Given the description of an element on the screen output the (x, y) to click on. 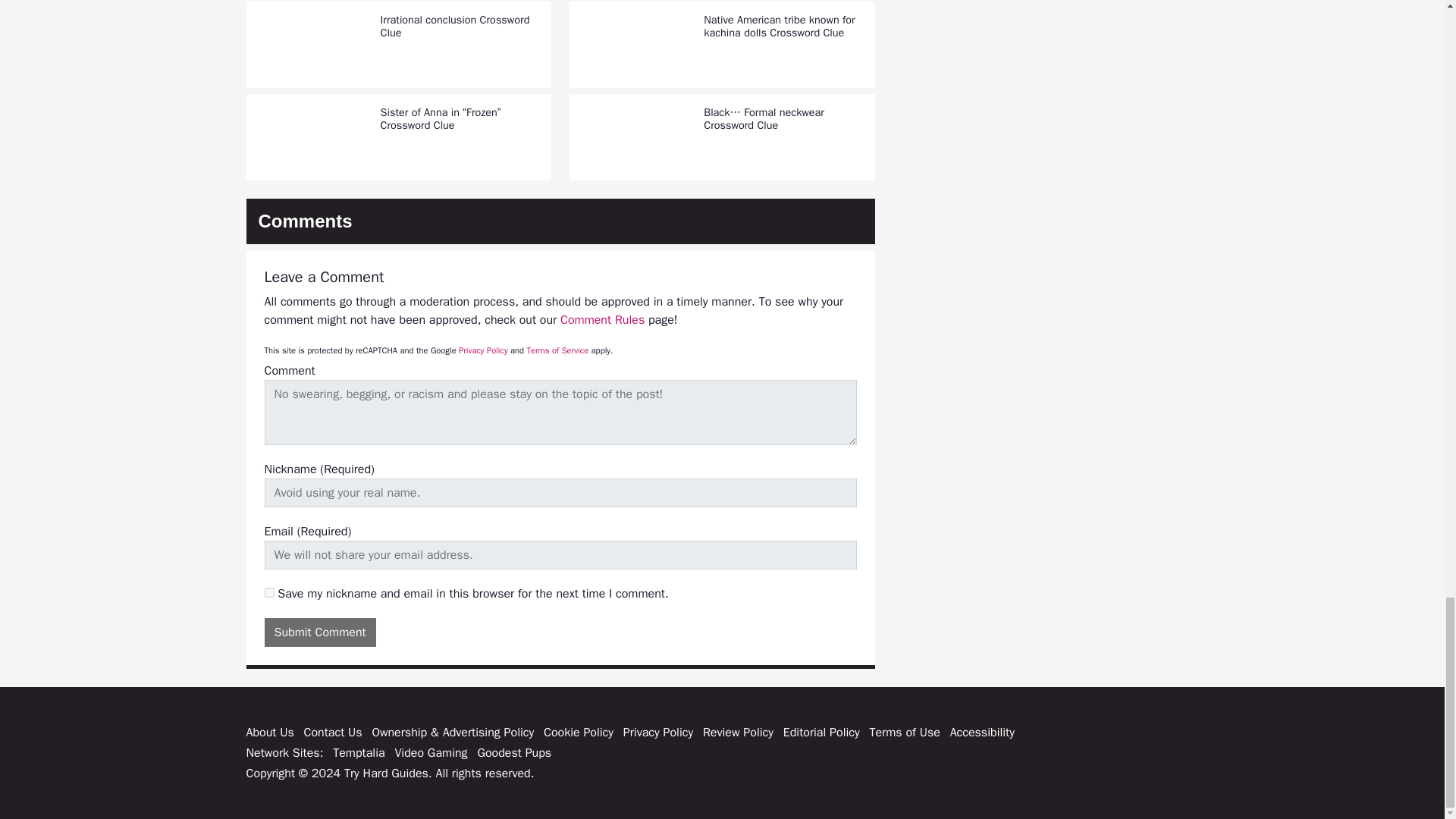
on (268, 592)
Submit Comment (319, 632)
